Given the description of an element on the screen output the (x, y) to click on. 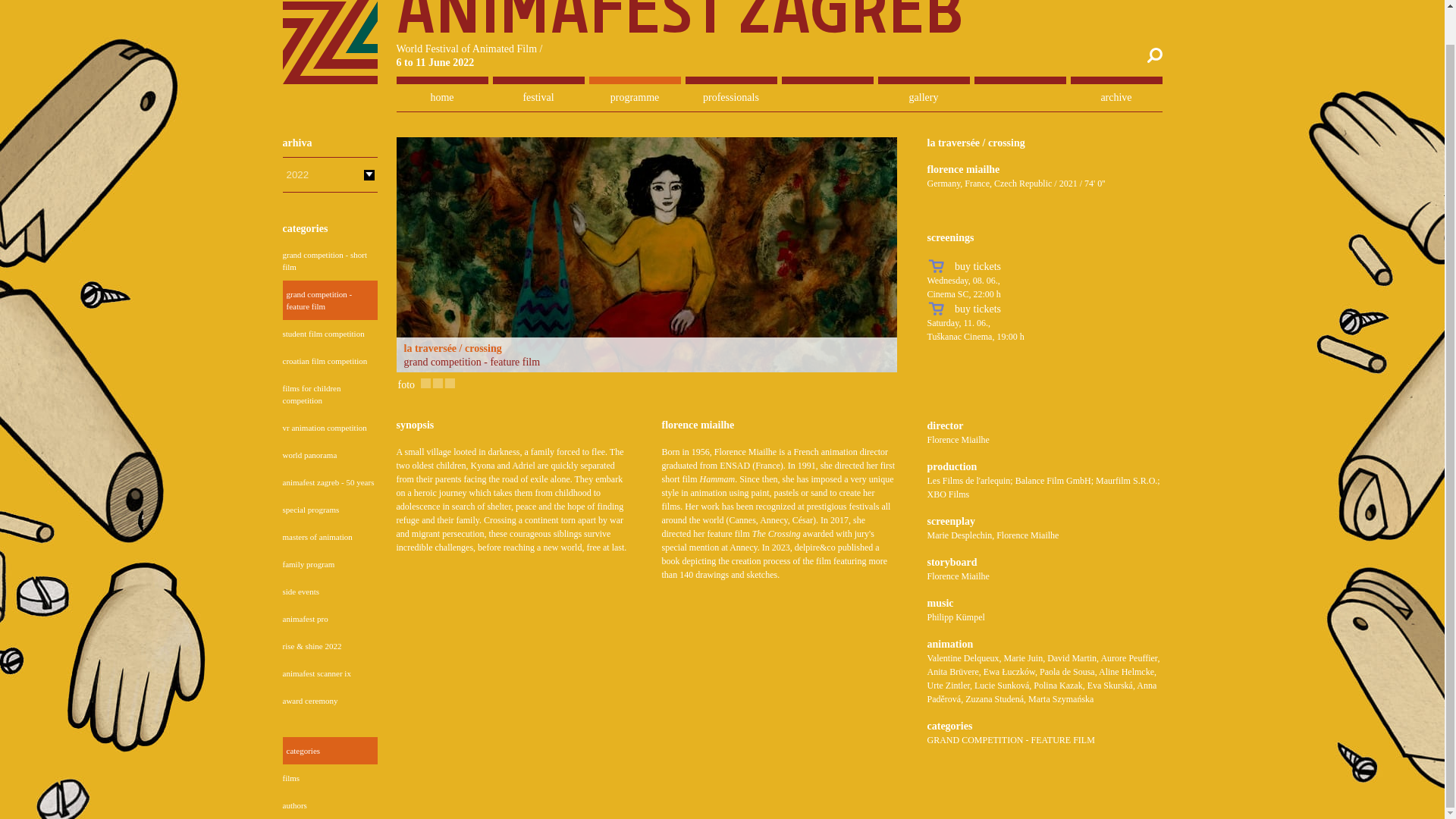
programme (633, 97)
home (441, 97)
gallery (923, 97)
festival (539, 97)
archive (1115, 97)
professionals (731, 97)
